Given the description of an element on the screen output the (x, y) to click on. 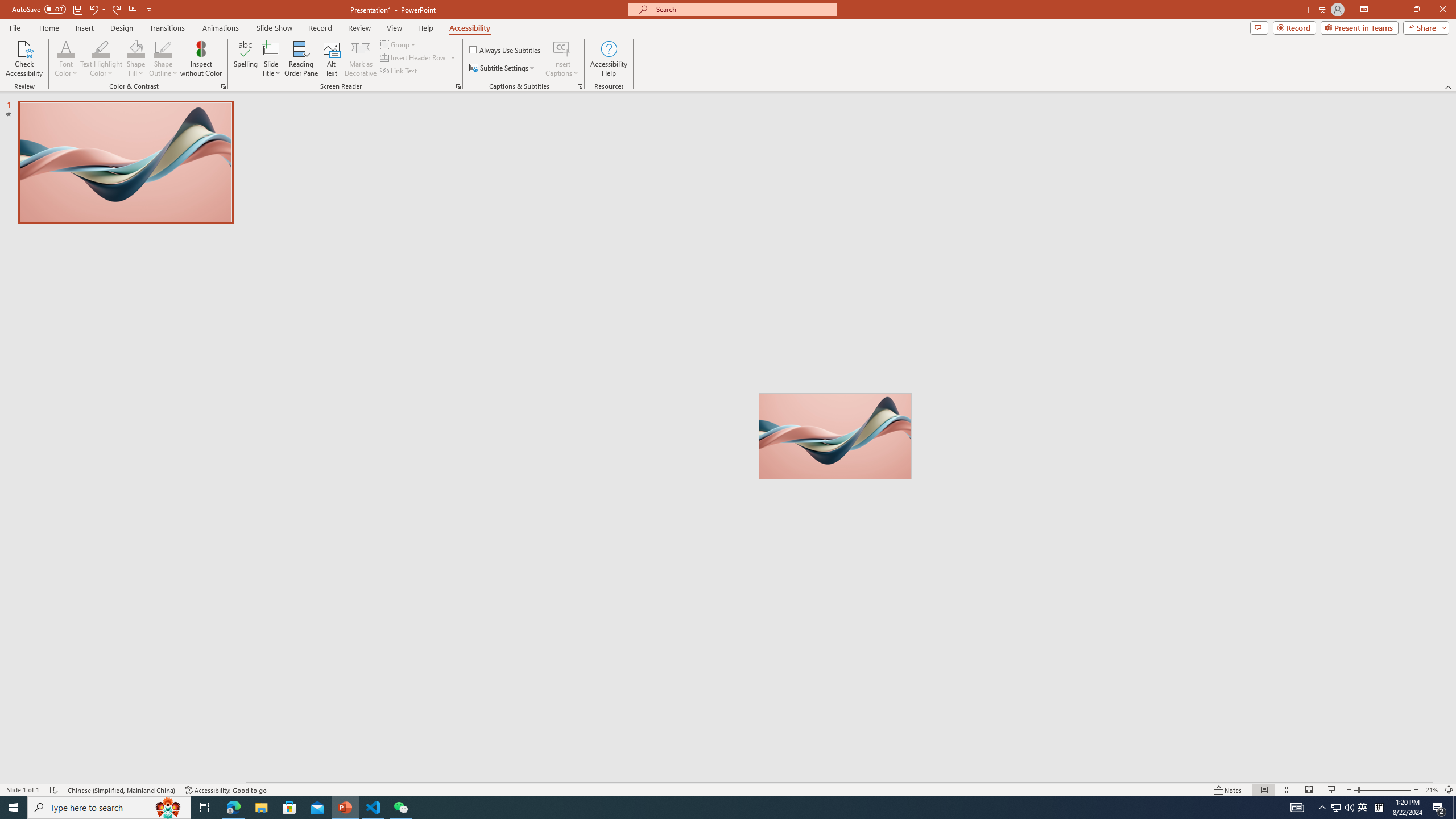
Insert Captions (561, 58)
Link Text (399, 69)
Accessibility Help (608, 58)
Slide Title (271, 48)
